Given the description of an element on the screen output the (x, y) to click on. 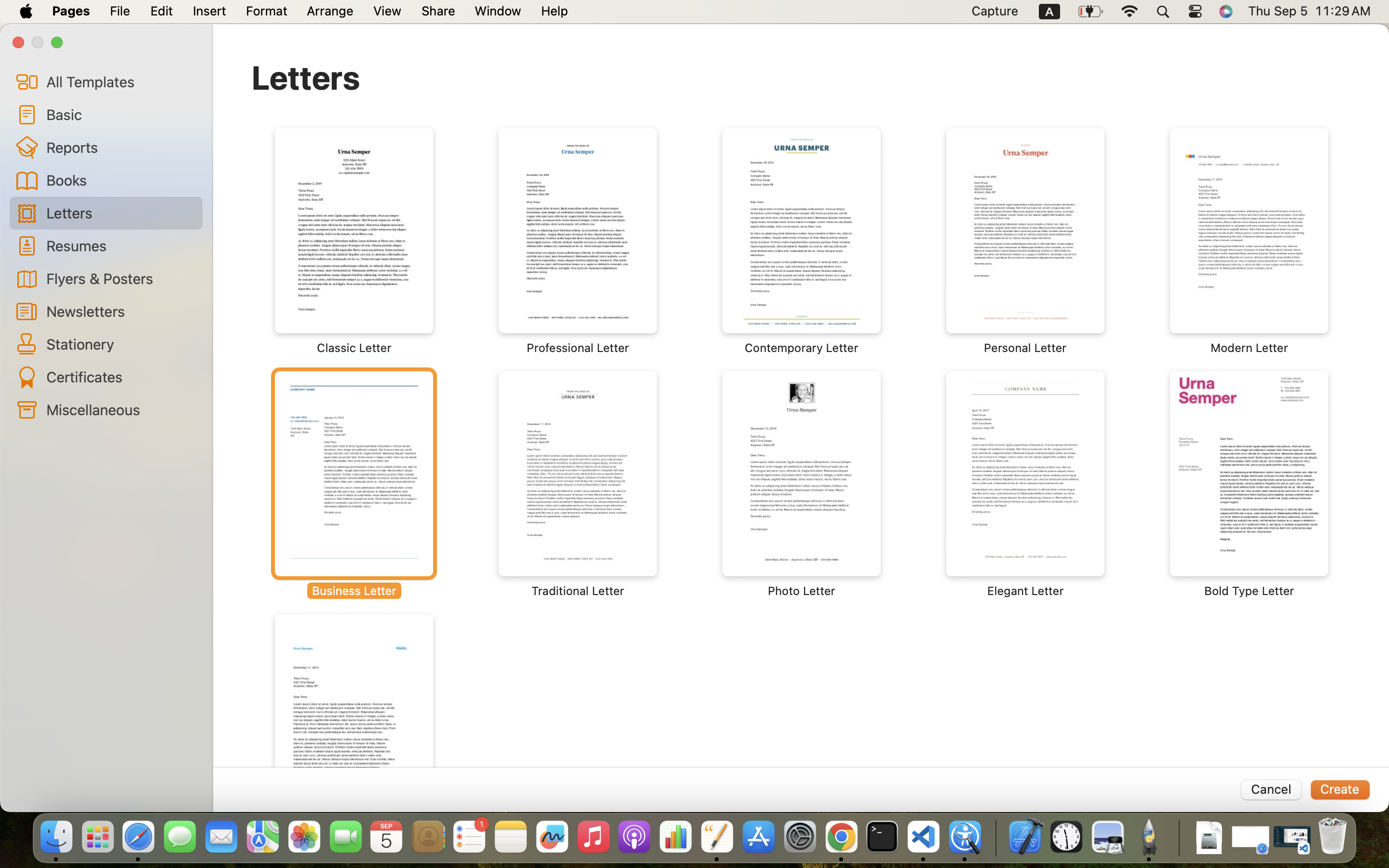
Resumes Element type: AXStaticText (120, 245)
‎⁨Business Letter⁩ Element type: AXButton (353, 484)
